Given the description of an element on the screen output the (x, y) to click on. 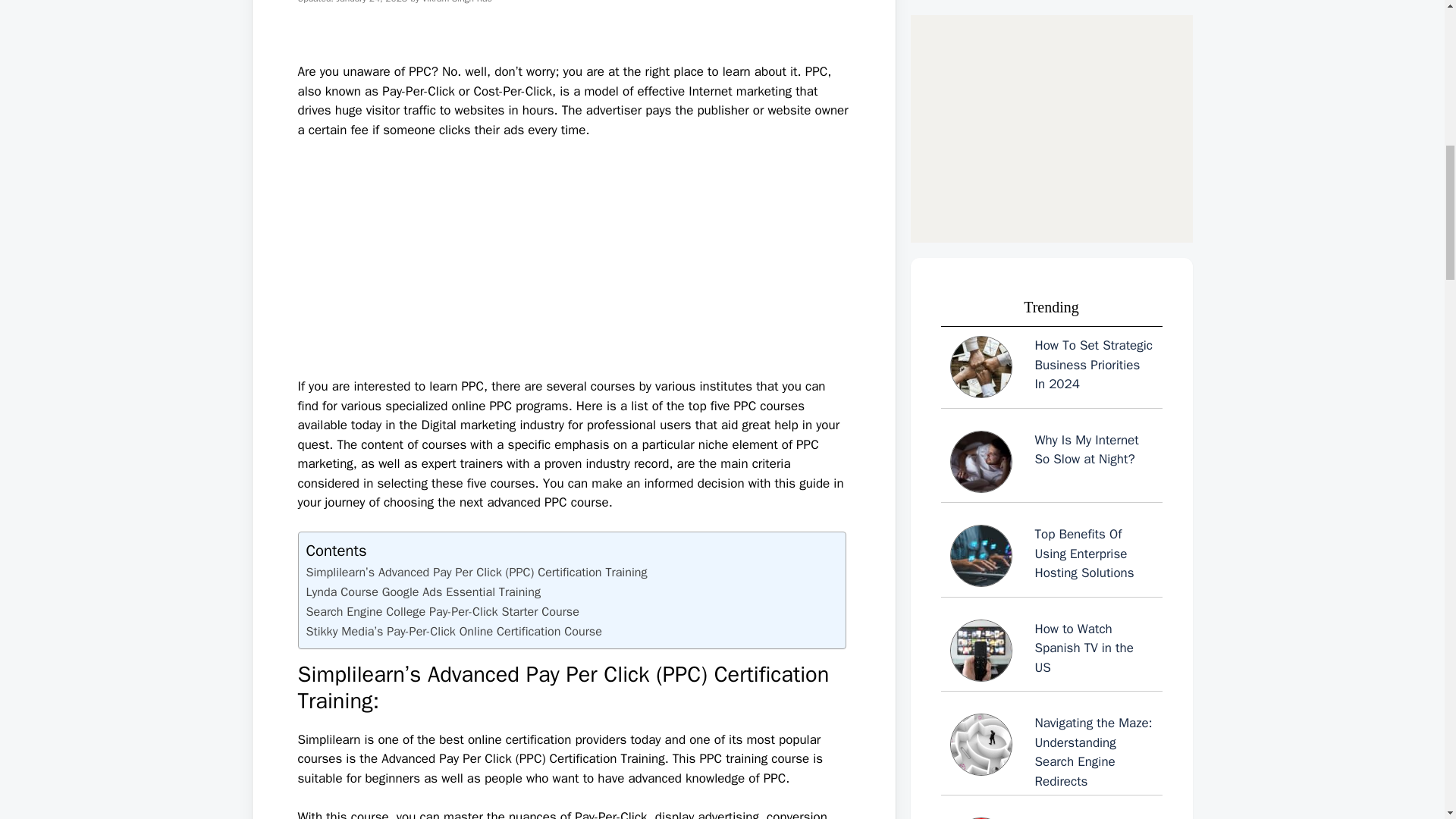
Lynda Course Google Ads Essential Training (422, 591)
The Role of Experience Platforms in Customer Interactions  (1051, 291)
How to Watch Spanish TV in the US (1051, 79)
Search Engine College Pay-Per-Click Starter Course (442, 611)
Navigating the Maze: Understanding Search Engine Redirects (1051, 178)
View all posts by Vikram Singh Rao (457, 2)
Lynda Course Google Ads Essential Training (422, 591)
Top Benefits Of Using Enterprise Hosting Solutions (1051, 9)
Vikram Singh Rao (457, 2)
Search Engine College Pay-Per-Click Starter Course (442, 611)
